Given the description of an element on the screen output the (x, y) to click on. 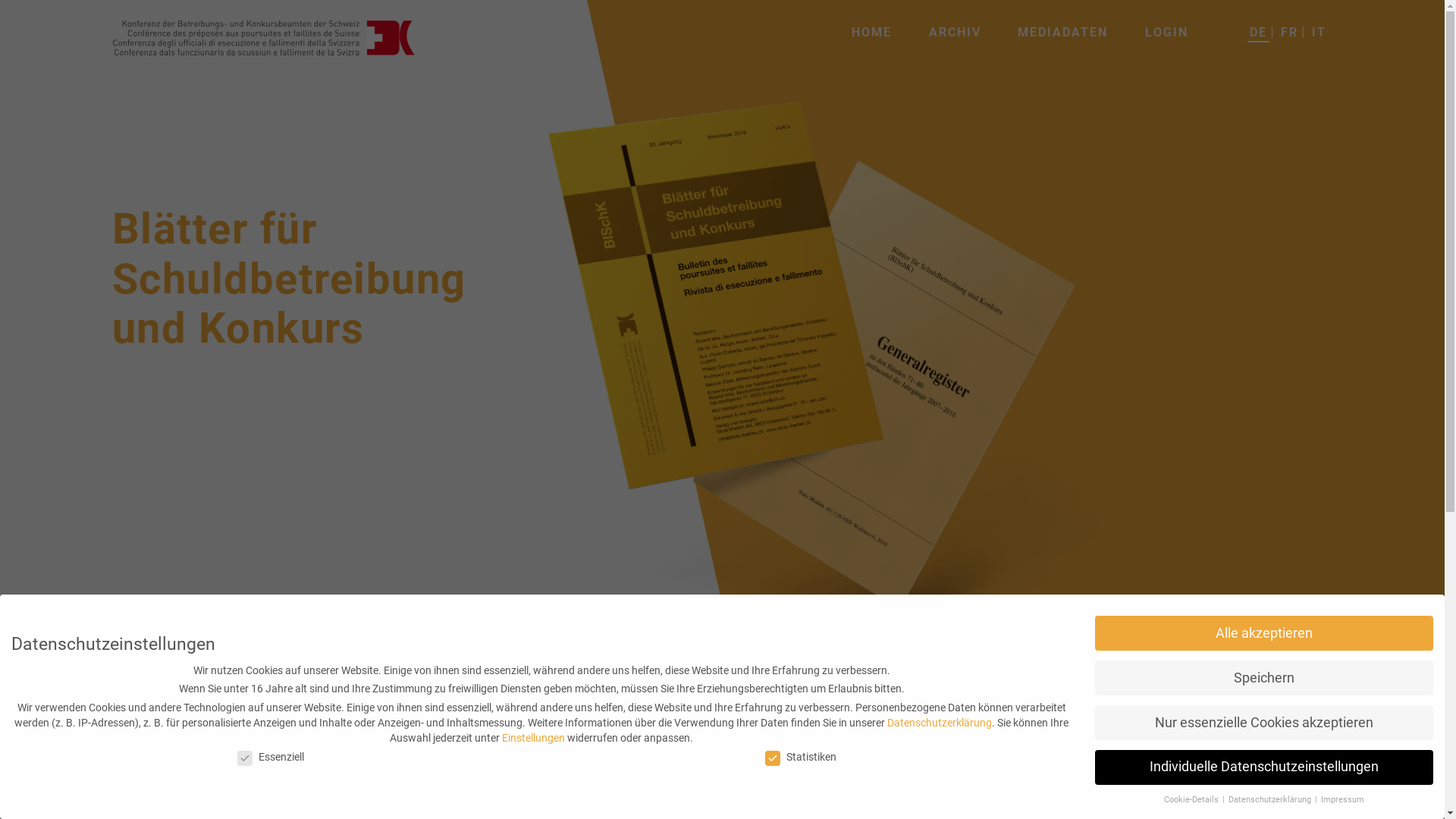
Einstellungen Element type: text (533, 737)
ARCHIV Element type: text (954, 31)
IT Element type: text (1318, 31)
Alle akzeptieren Element type: text (1264, 632)
FR Element type: text (1289, 31)
Impressum Element type: text (1342, 799)
Individuelle Datenschutzeinstellungen Element type: text (1264, 766)
Nur essenzielle Cookies akzeptieren Element type: text (1264, 722)
DE Element type: text (1257, 31)
LOGIN Element type: text (1166, 31)
Speichern Element type: text (1264, 677)
MEDIADATEN Element type: text (1062, 31)
HOME Element type: text (871, 31)
Cookie-Details Element type: text (1192, 799)
